Given the description of an element on the screen output the (x, y) to click on. 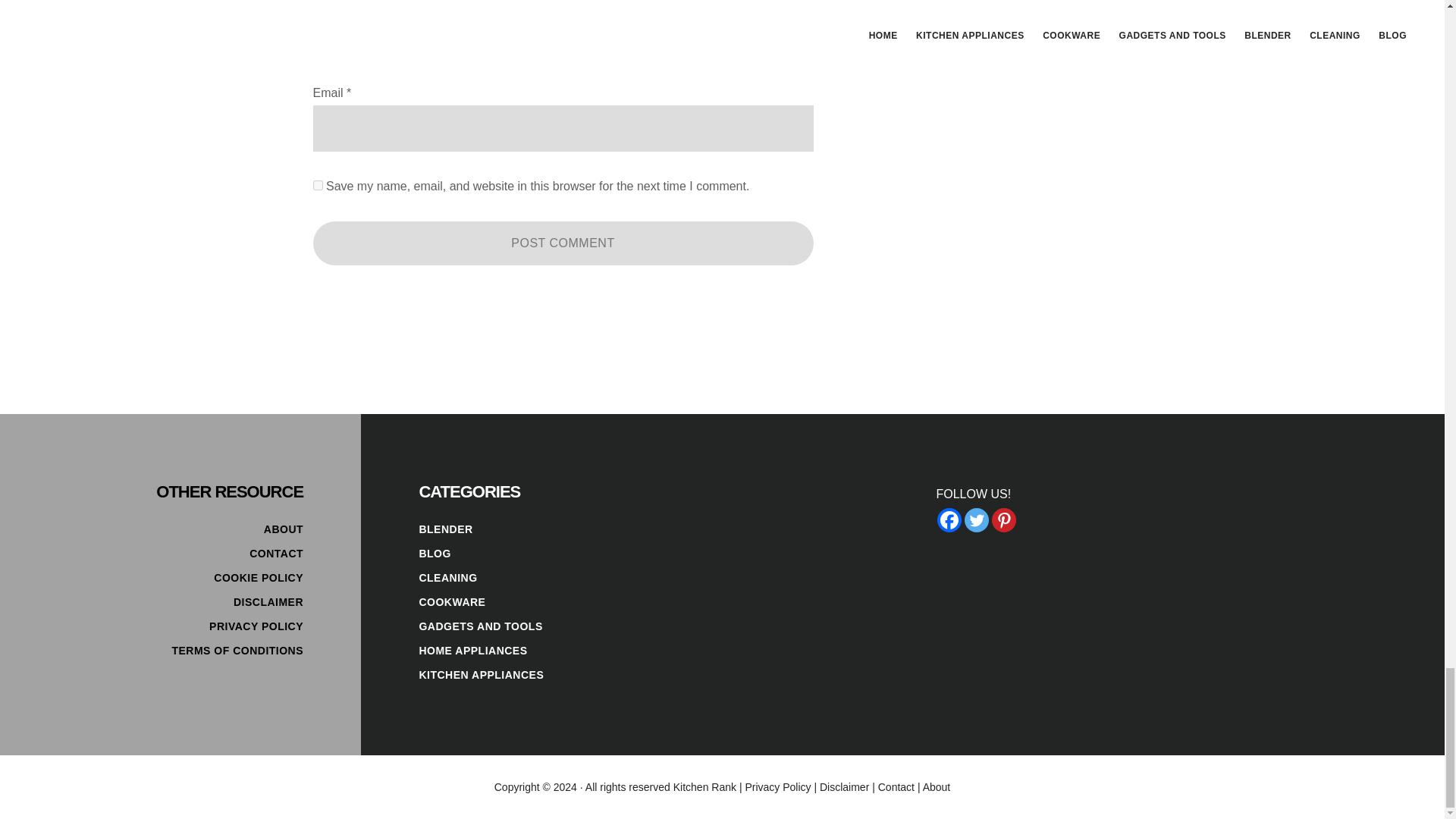
Post Comment (562, 243)
Post Comment (562, 243)
ABOUT (282, 529)
yes (317, 185)
